Given the description of an element on the screen output the (x, y) to click on. 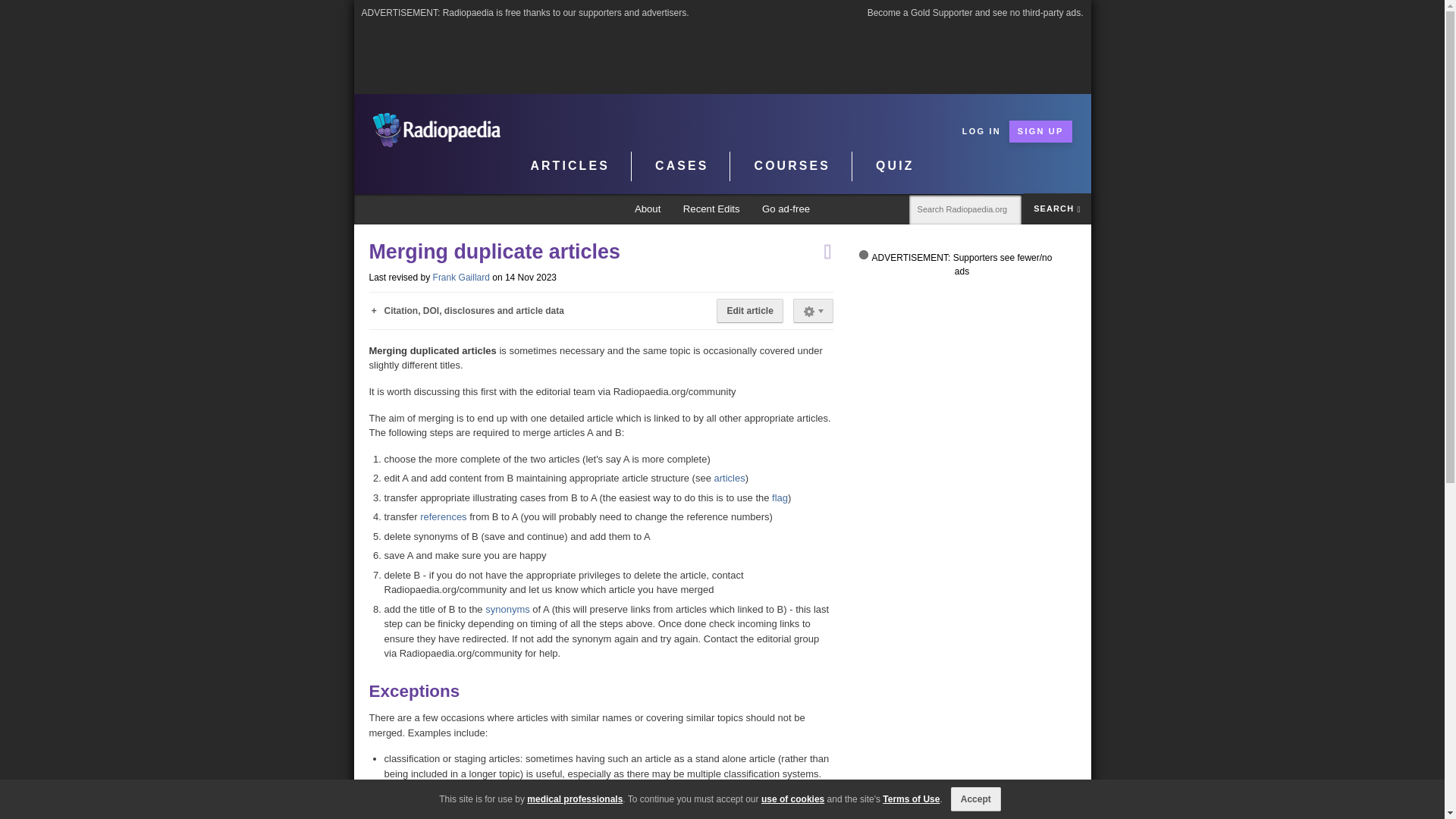
CASES (681, 166)
Edit article (749, 310)
LOG IN (981, 131)
About (647, 209)
Go ad-free (785, 209)
COURSES (791, 166)
Recent Edits (710, 209)
QUIZ (895, 166)
SEARCH (1056, 208)
Frank Gaillard (460, 276)
